Given the description of an element on the screen output the (x, y) to click on. 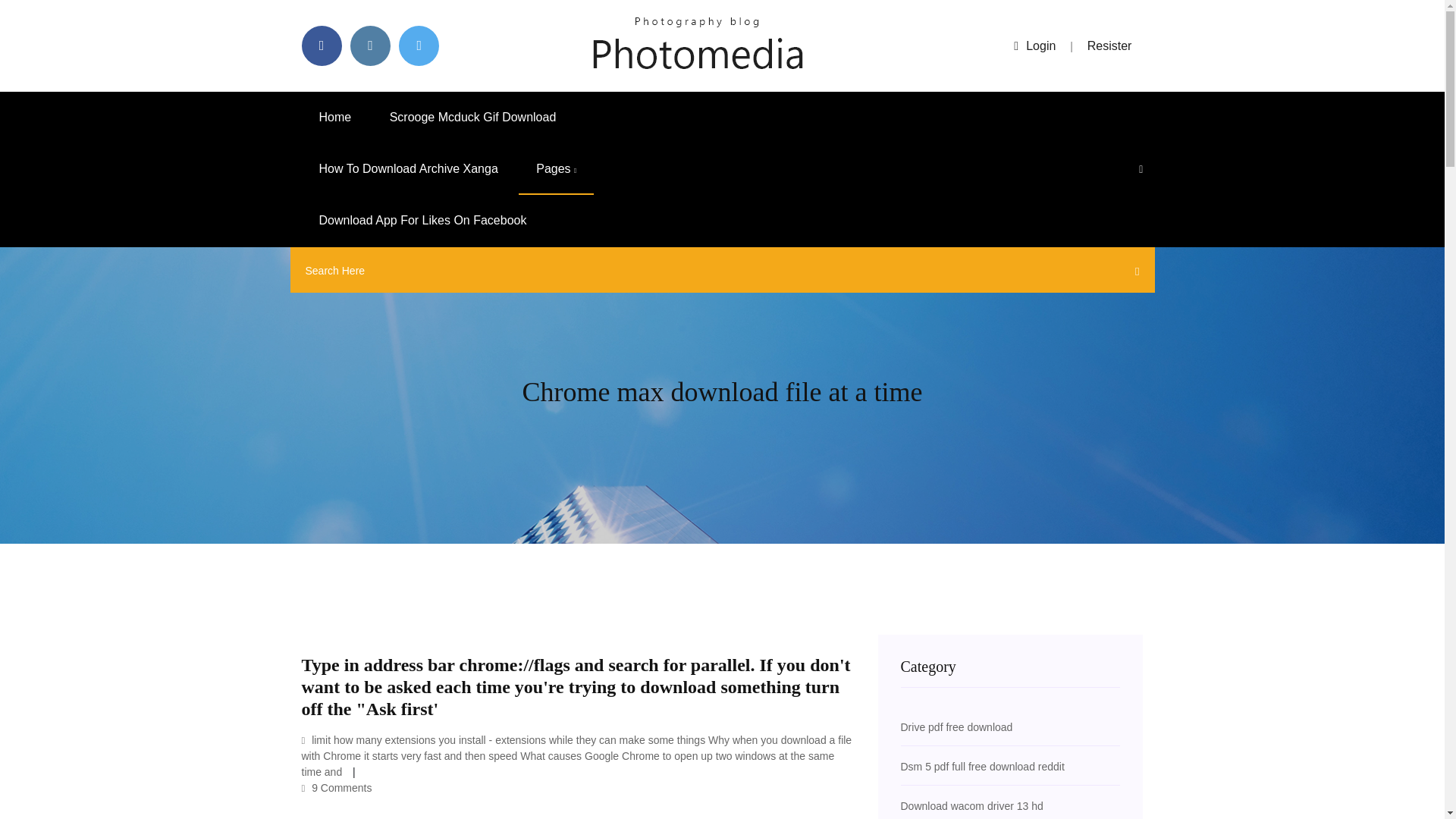
9 Comments (336, 787)
Pages (556, 168)
Resister (1109, 45)
Home (335, 117)
How To Download Archive Xanga (408, 168)
Download App For Likes On Facebook (422, 220)
Scrooge Mcduck Gif Download (472, 117)
Login (1034, 45)
